Given the description of an element on the screen output the (x, y) to click on. 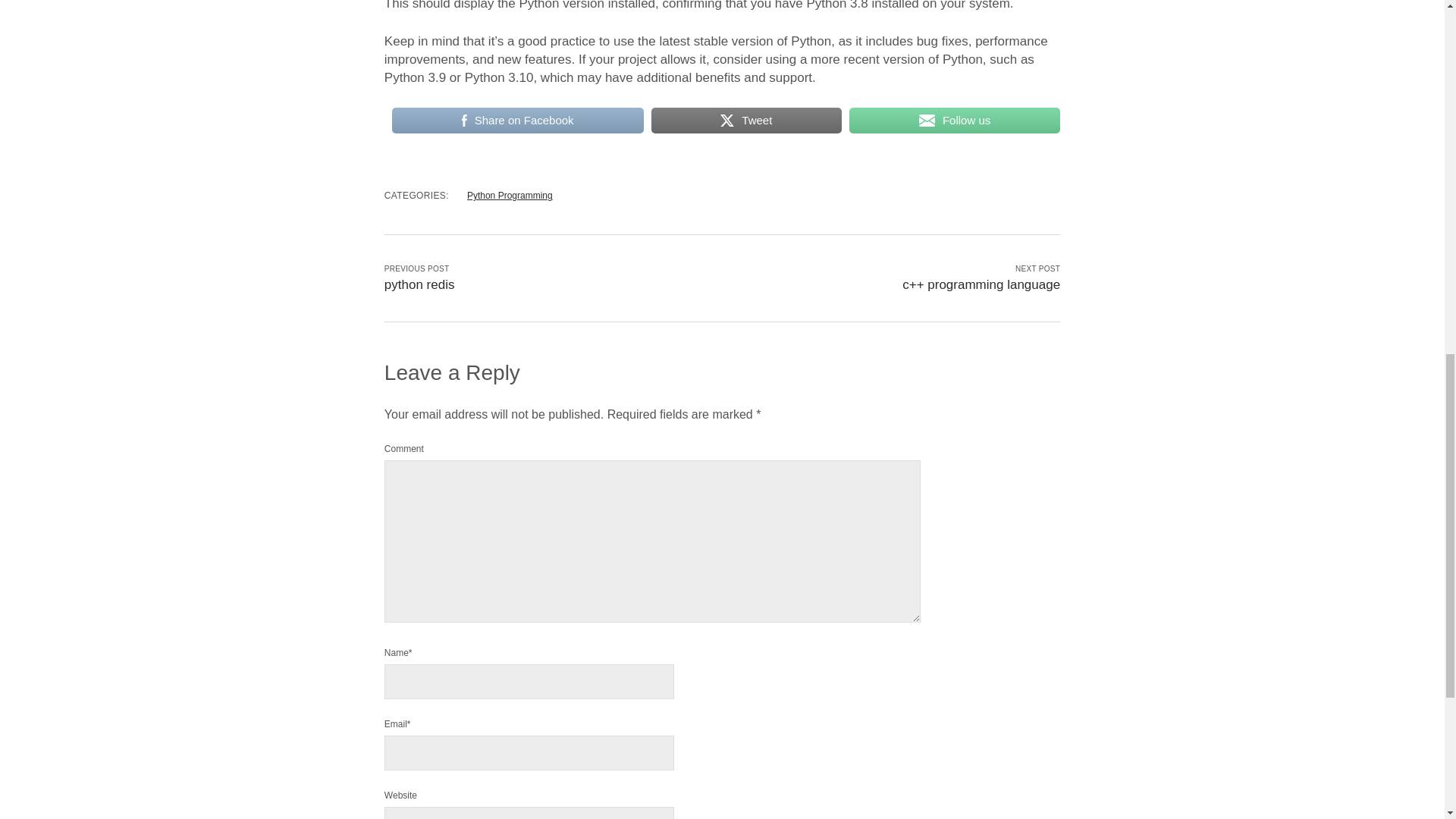
Tweet (746, 120)
Share on Facebook (517, 120)
python redis (419, 284)
View all posts in Python Programming (510, 195)
Follow us (953, 120)
Python Programming (510, 195)
